Given the description of an element on the screen output the (x, y) to click on. 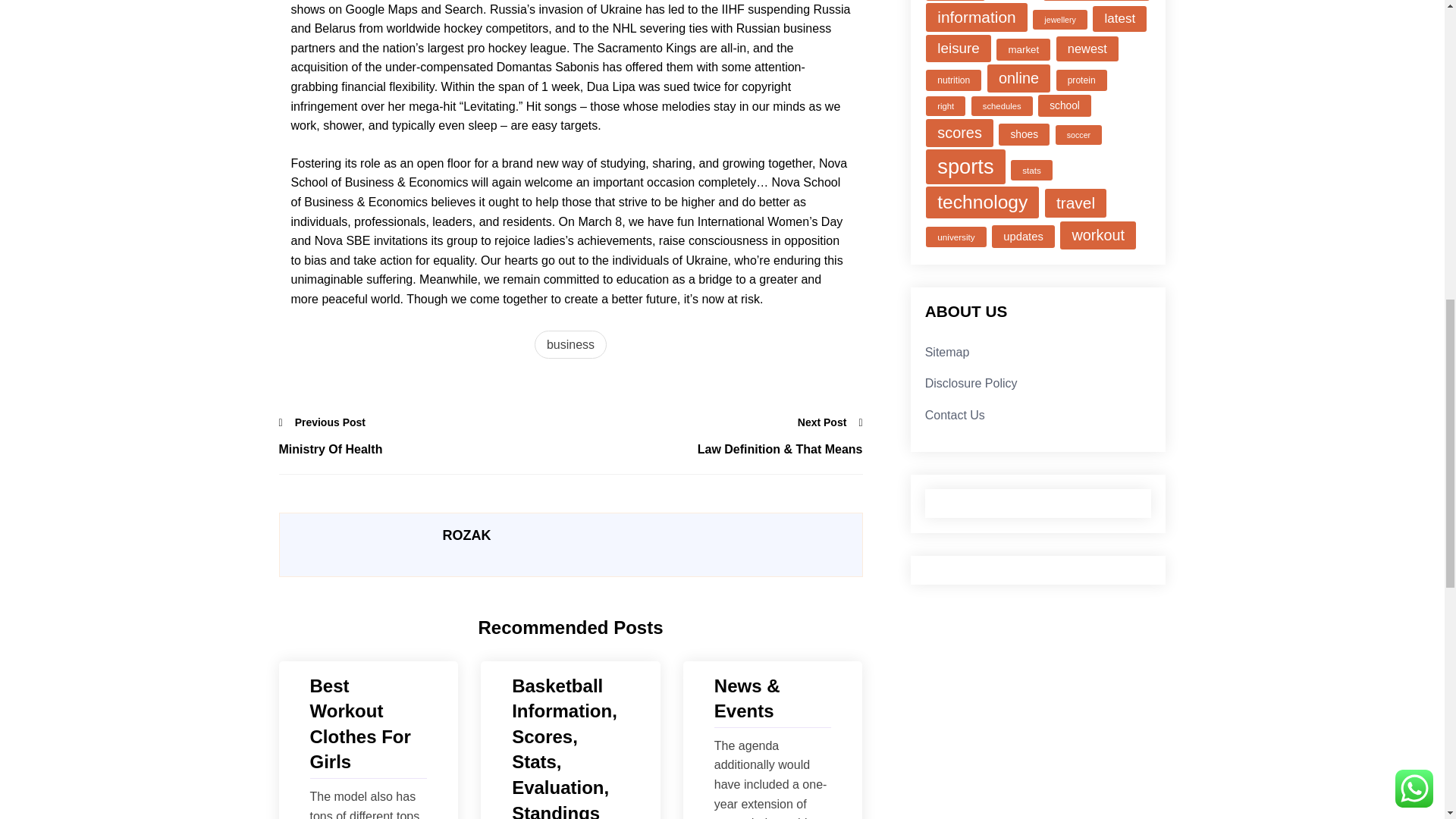
Best Workout Clothes For Girls (367, 723)
business (570, 344)
Ministry Of Health (424, 449)
Next Post (830, 422)
Previous Post (322, 422)
